Given the description of an element on the screen output the (x, y) to click on. 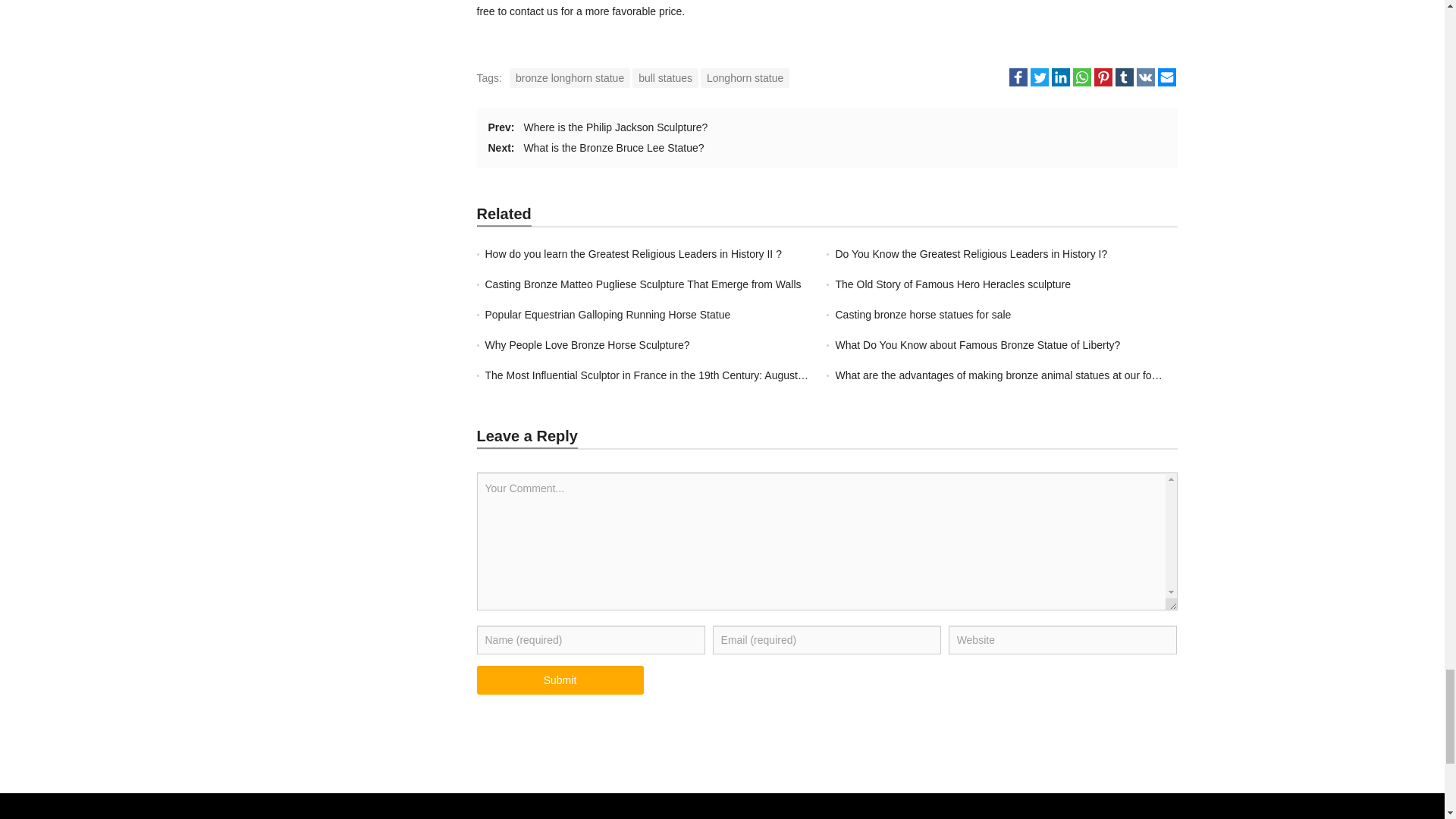
Submit (559, 679)
Share on Twitter (1038, 76)
Share on Facebook (1017, 76)
Share on LinkedIn (1059, 76)
